Given the description of an element on the screen output the (x, y) to click on. 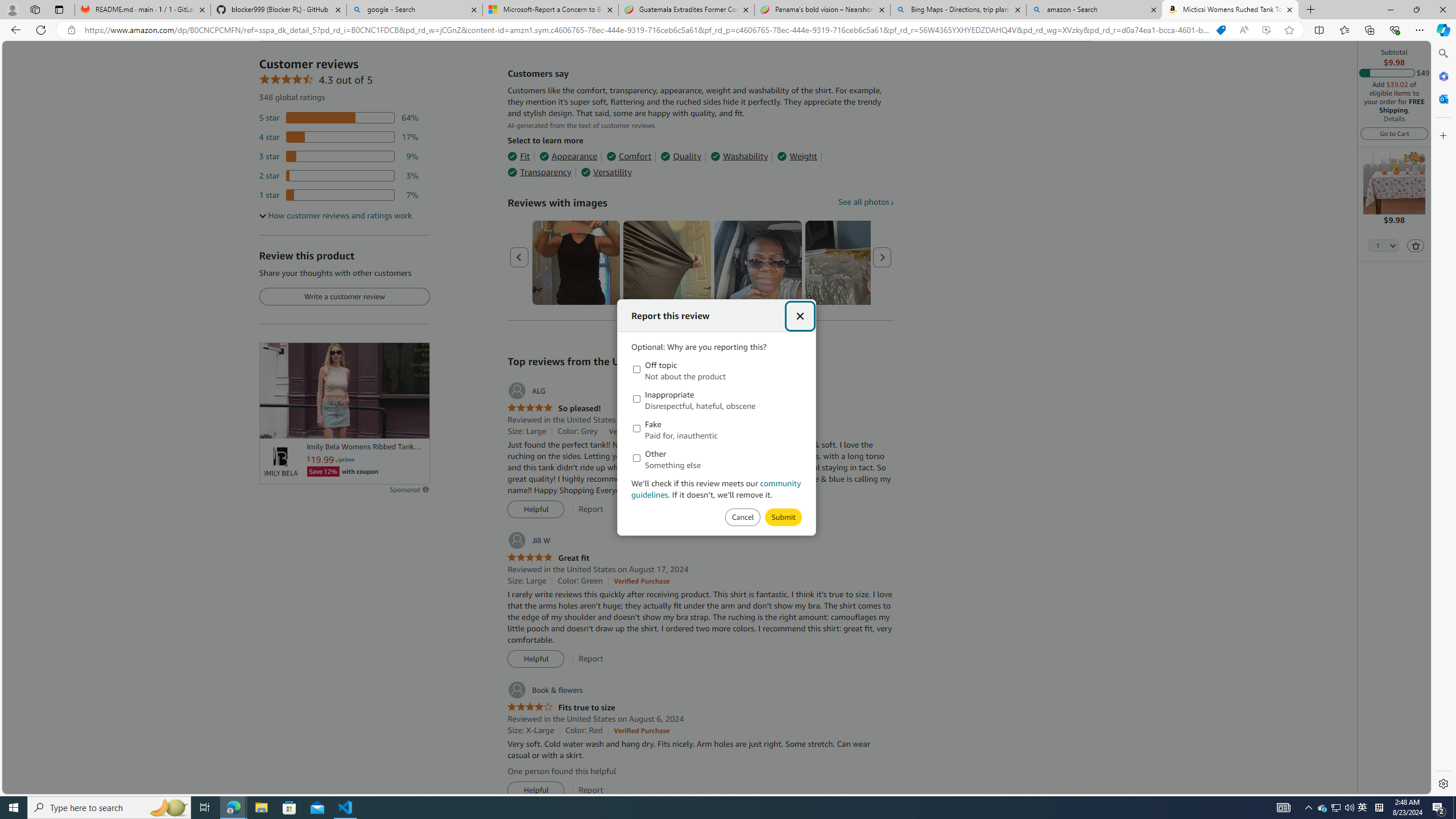
Versatility (605, 172)
Washability (739, 156)
Fit (517, 156)
Comfort (628, 156)
5.0 out of 5 stars Great fit (547, 557)
5.0 out of 5 stars So pleased! (553, 408)
Previous page (518, 256)
Transparency (539, 172)
